Given the description of an element on the screen output the (x, y) to click on. 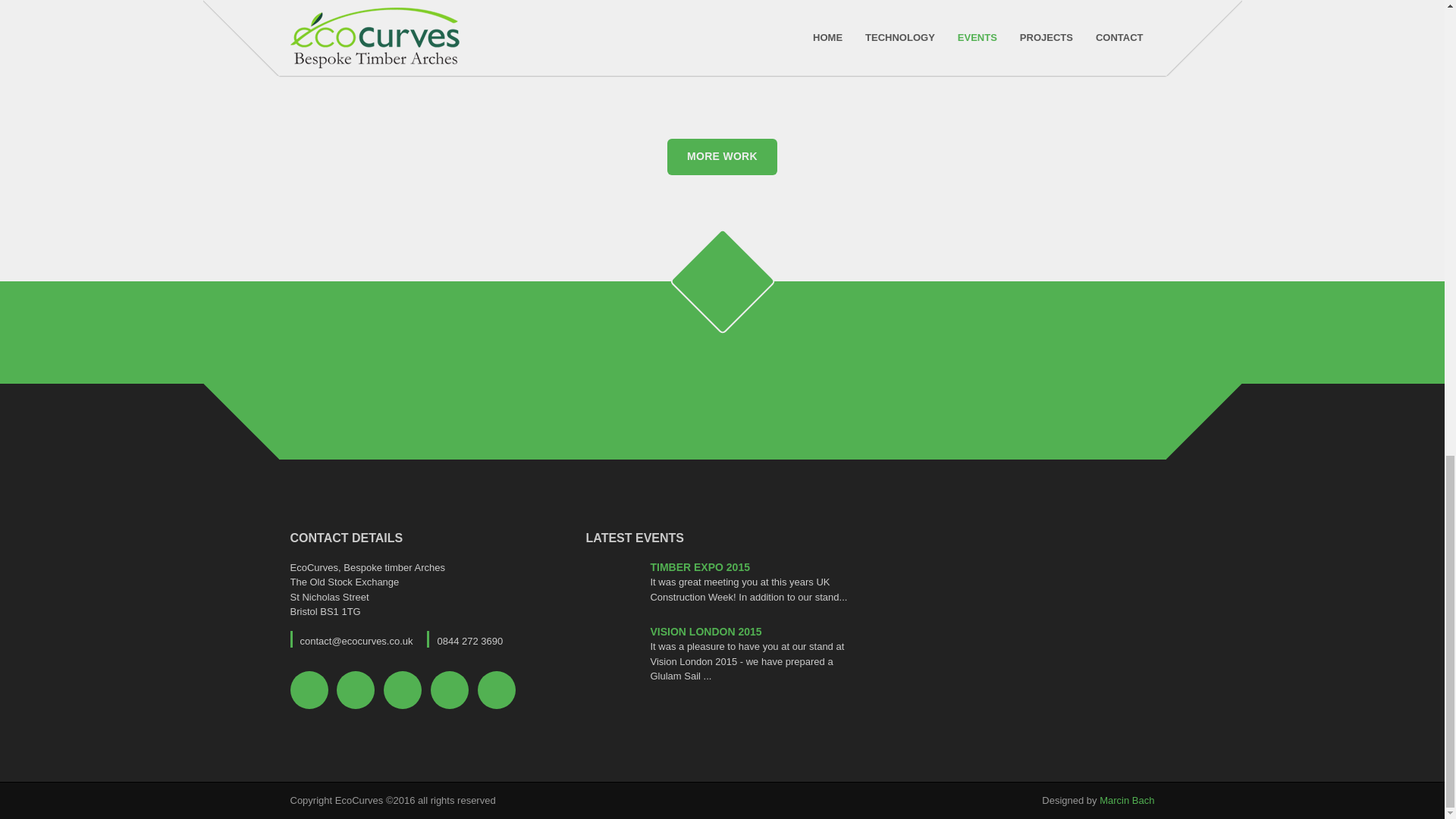
MORE WORK (721, 156)
TIMBER EXPO 2015 (699, 567)
